Given the description of an element on the screen output the (x, y) to click on. 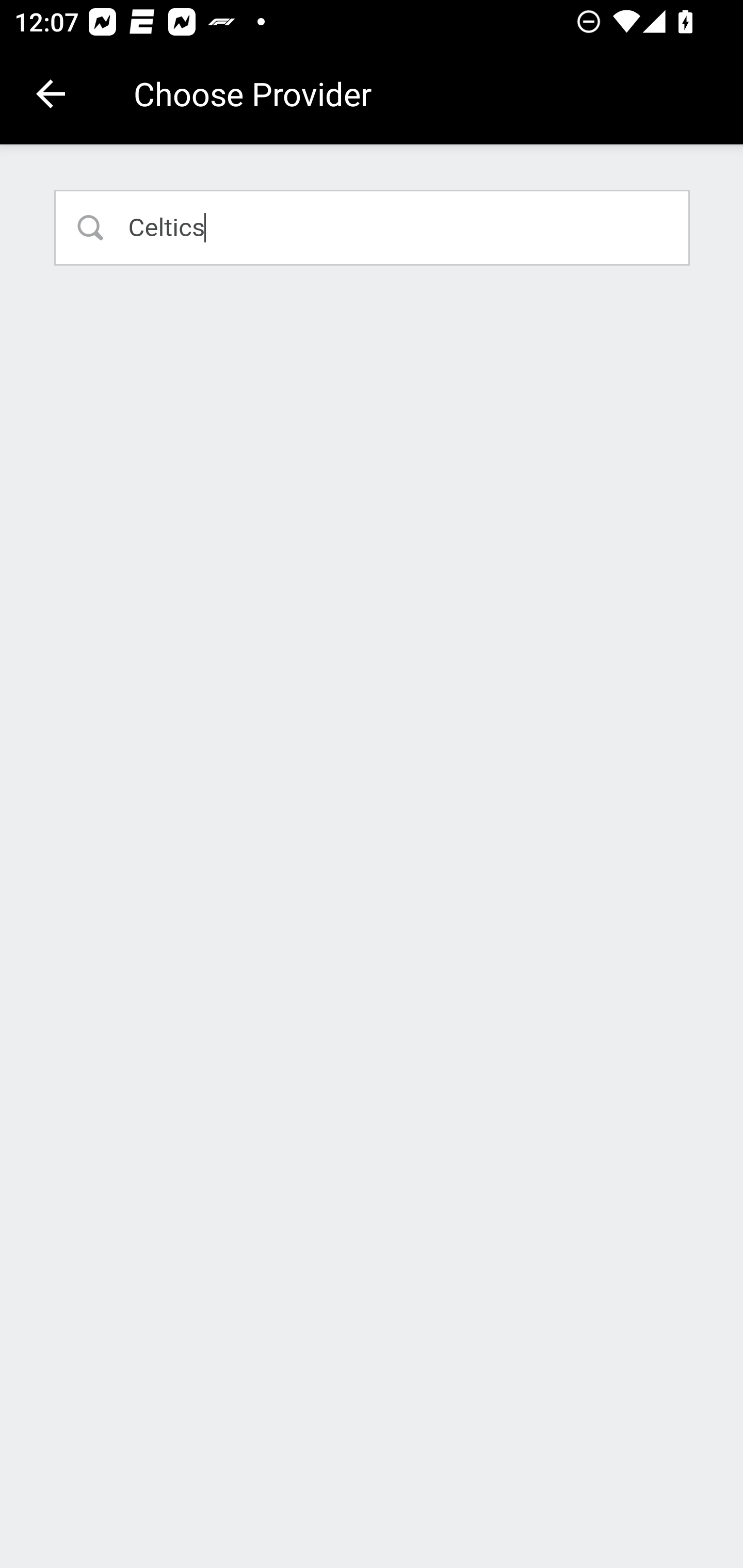
Navigate up (50, 93)
Celtics (372, 227)
